Given the description of an element on the screen output the (x, y) to click on. 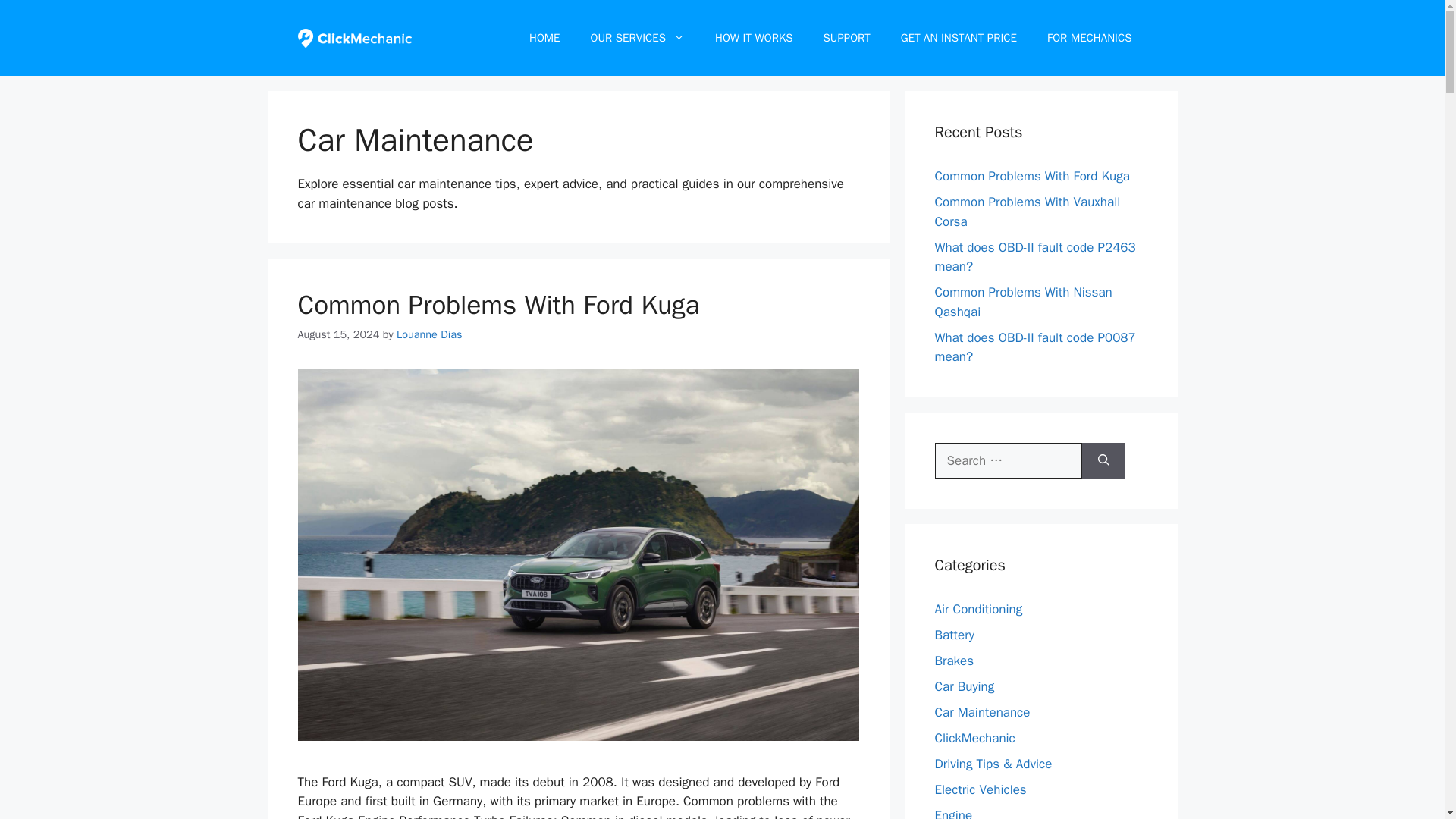
ClickMechanic Blog (353, 37)
ClickMechanic Blog (353, 38)
OUR SERVICES (637, 37)
View all posts by Louanne Dias (429, 334)
HOME (544, 37)
